Given the description of an element on the screen output the (x, y) to click on. 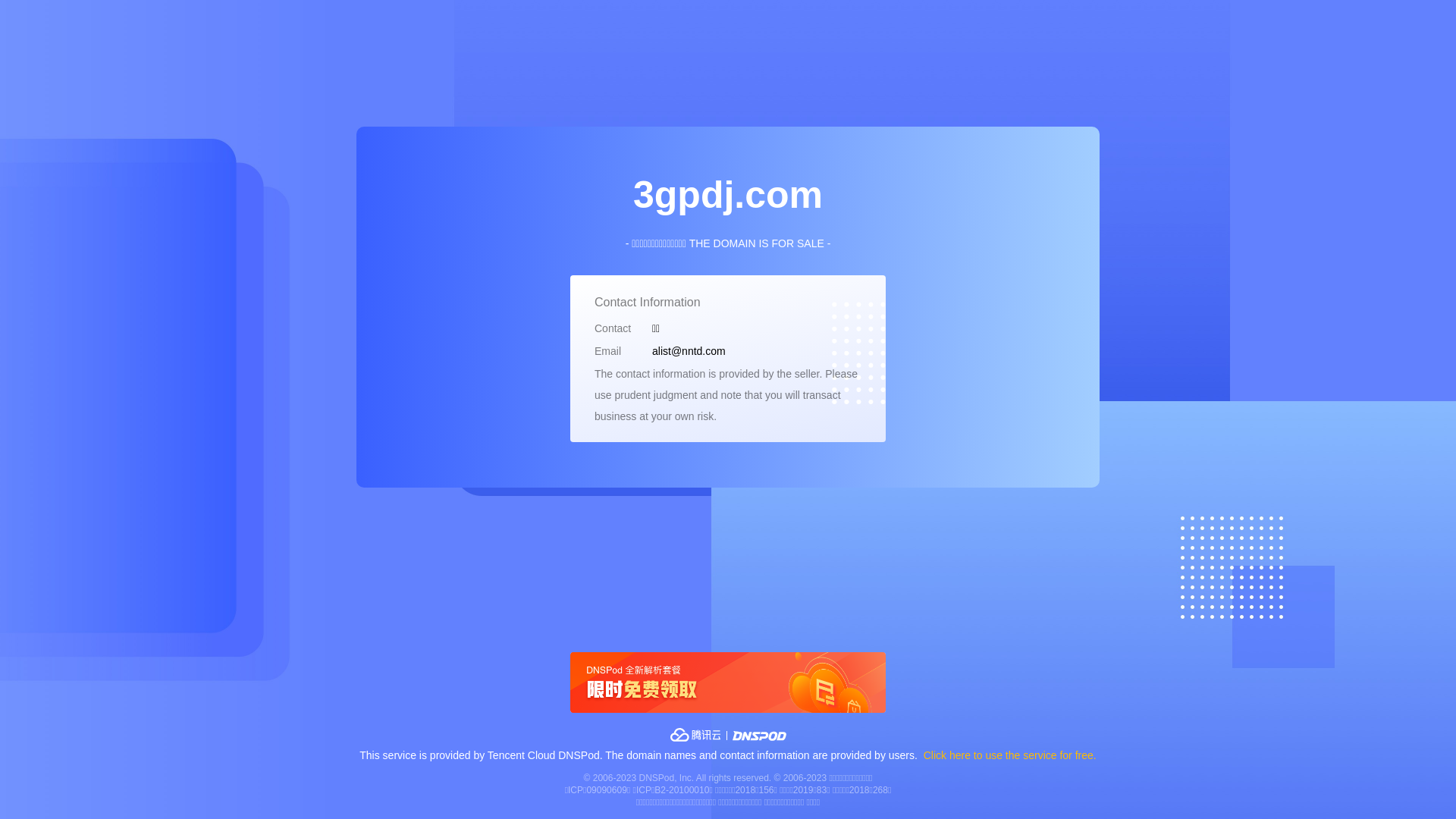
Click here to use the service for free. Element type: text (1009, 755)
